Given the description of an element on the screen output the (x, y) to click on. 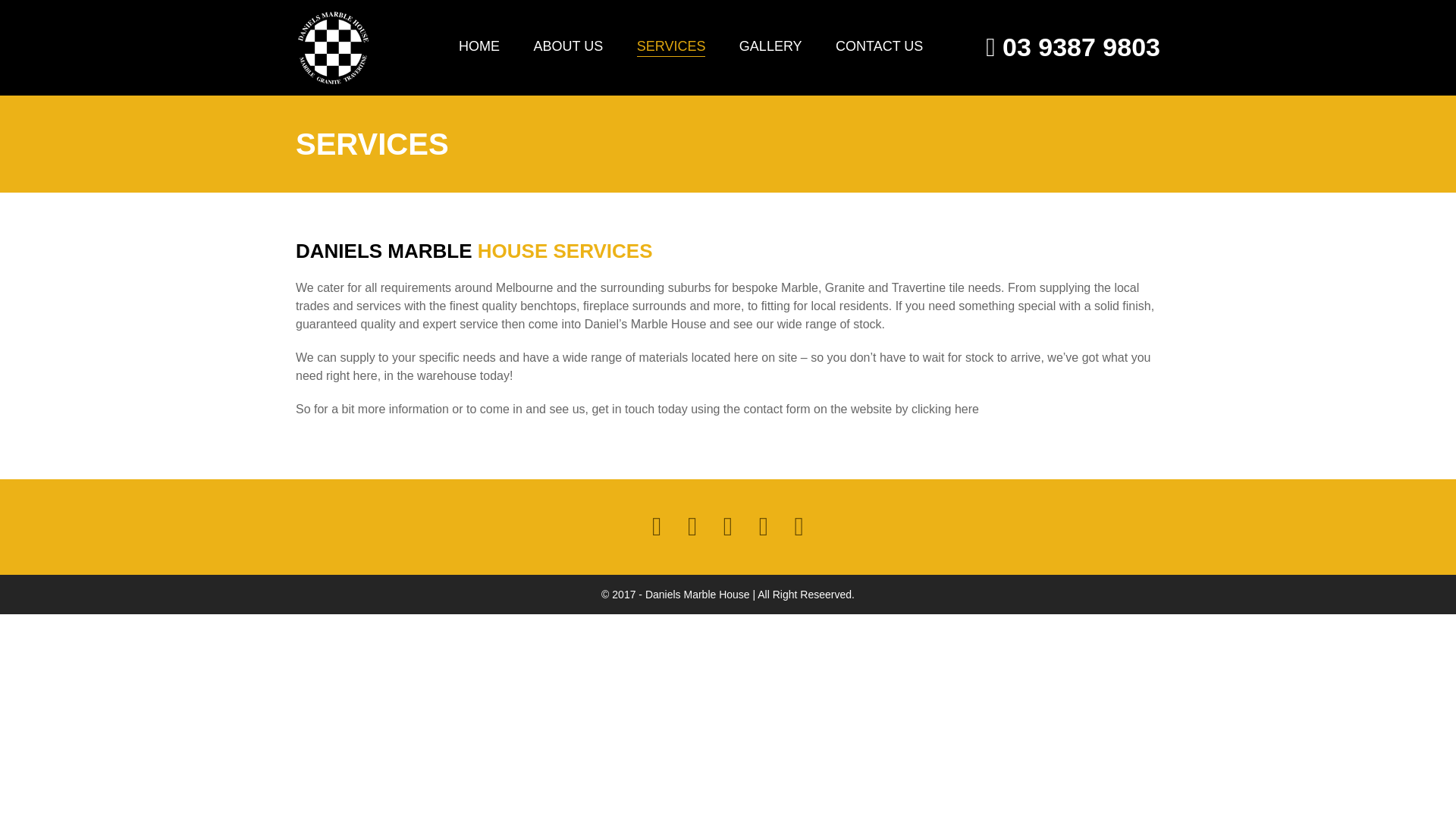
DMARBLE (332, 47)
SERVICES (671, 46)
ABOUT US (569, 46)
03 9387 9803 (1072, 47)
CONTACT US (879, 46)
GALLERY (770, 46)
HOME (478, 46)
